Given the description of an element on the screen output the (x, y) to click on. 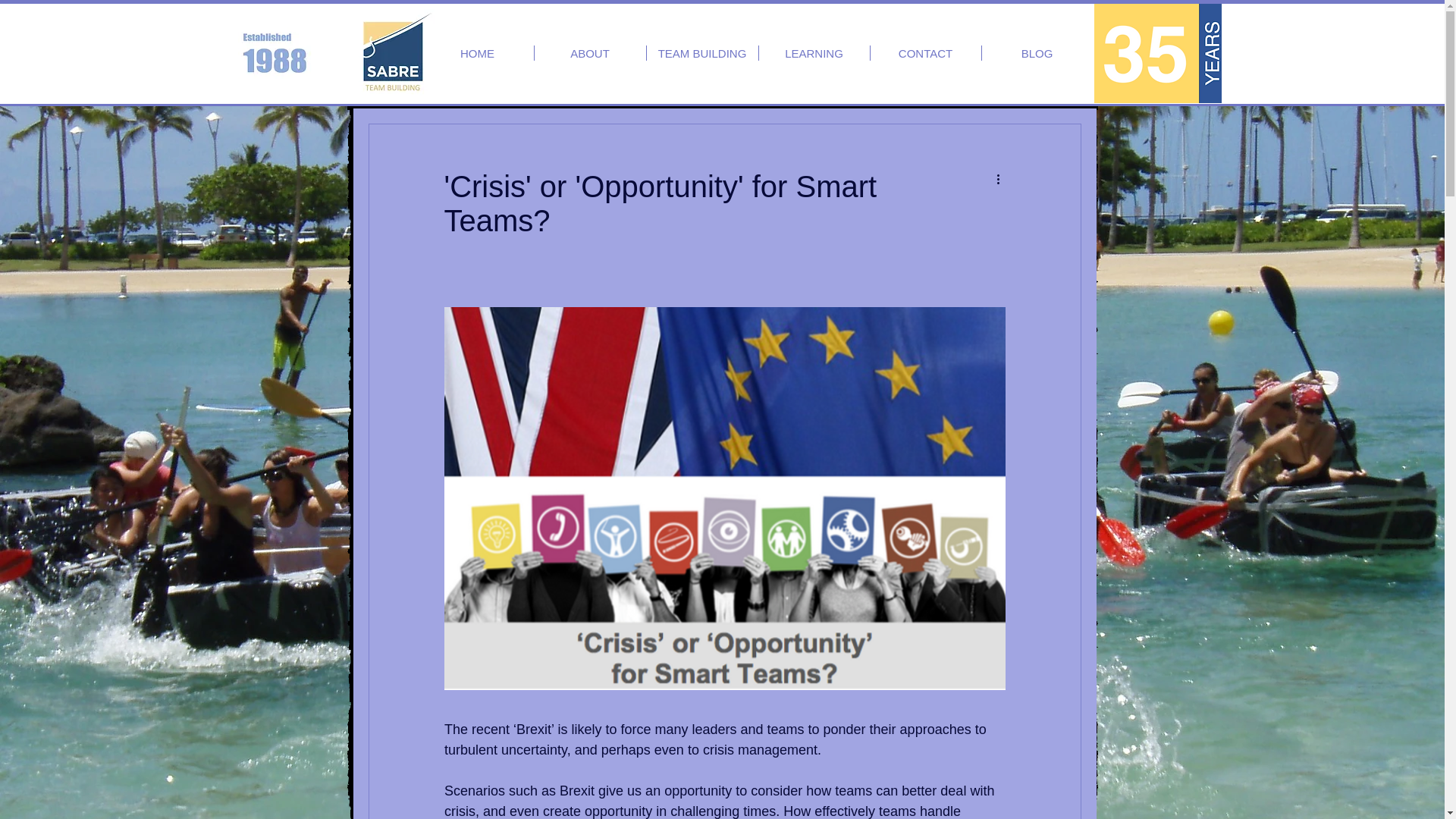
HOME (478, 52)
ABOUT (589, 52)
Team Building by Sabre Corporate Developmen (391, 52)
Team Building Australia since 1988 (1157, 53)
LEARNING (813, 52)
BLOG (1036, 52)
CONTACT (925, 52)
TEAM BUILDING (701, 52)
